Given the description of an element on the screen output the (x, y) to click on. 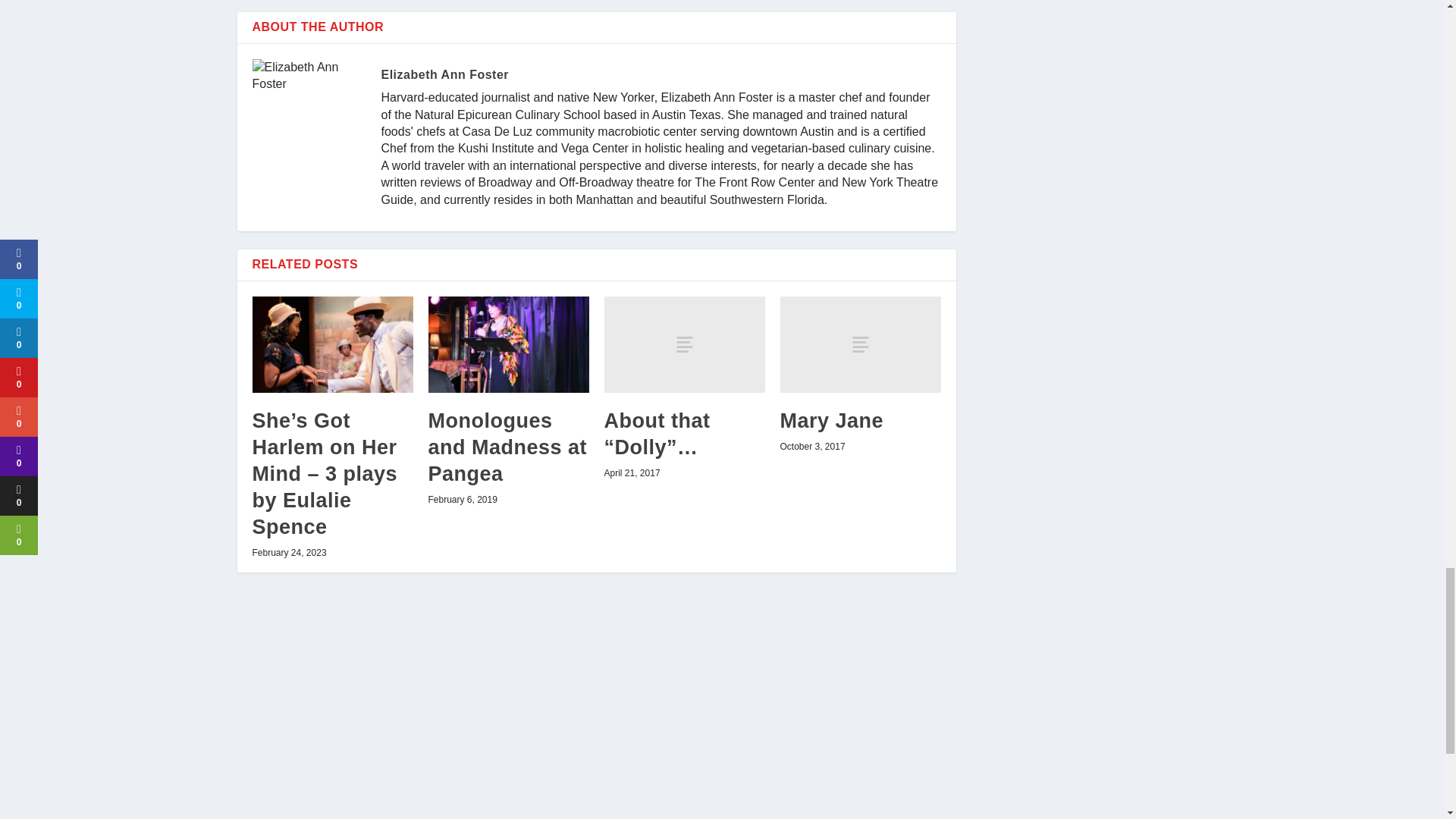
Monologues and Madness at Pangea (508, 344)
Mary Jane (859, 344)
View all posts by Elizabeth Ann Foster (444, 74)
